Given the description of an element on the screen output the (x, y) to click on. 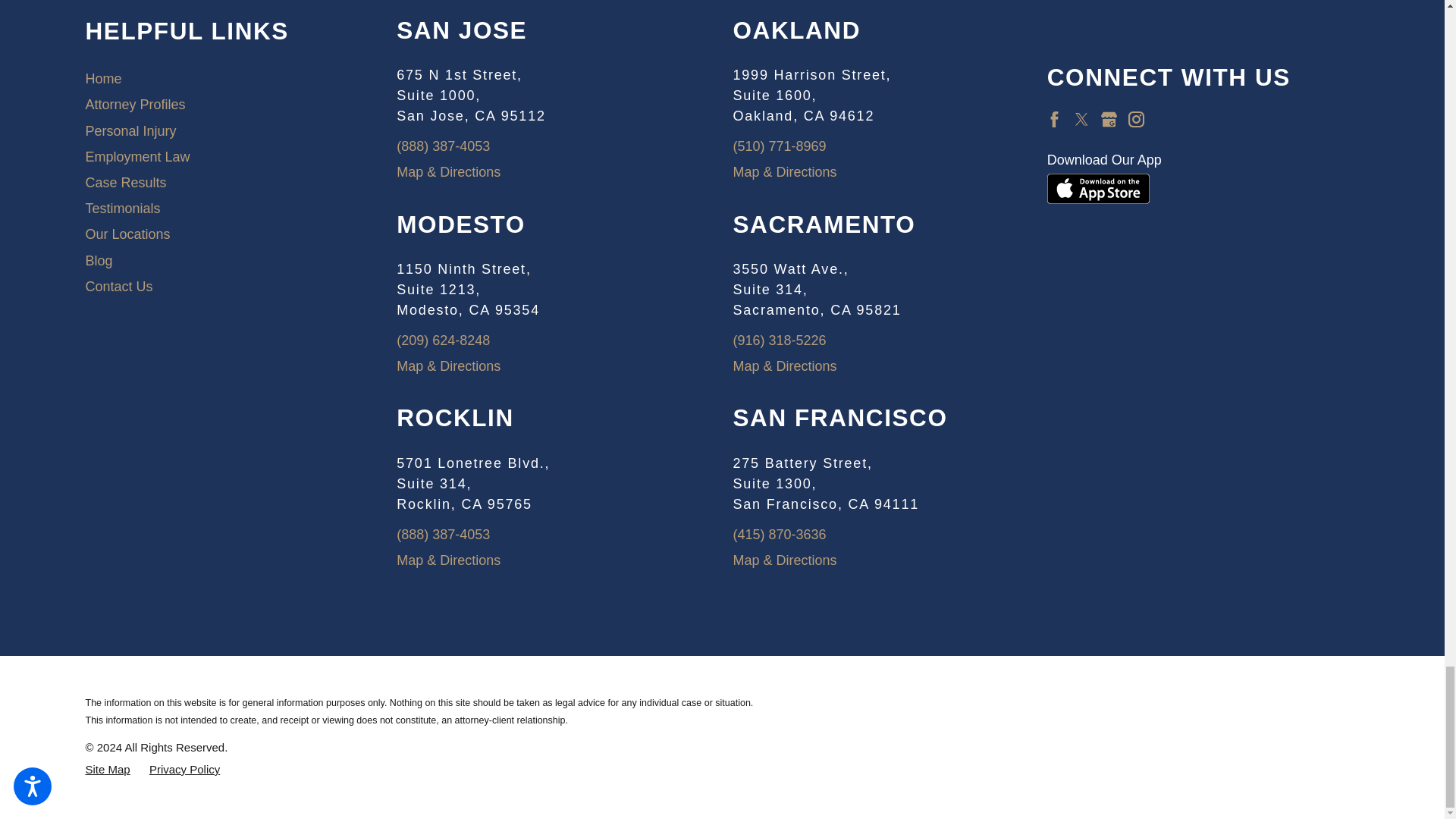
Google Business Profile (1108, 119)
Instagram (1136, 119)
Facebook (1054, 119)
Twitter (1081, 119)
